Given the description of an element on the screen output the (x, y) to click on. 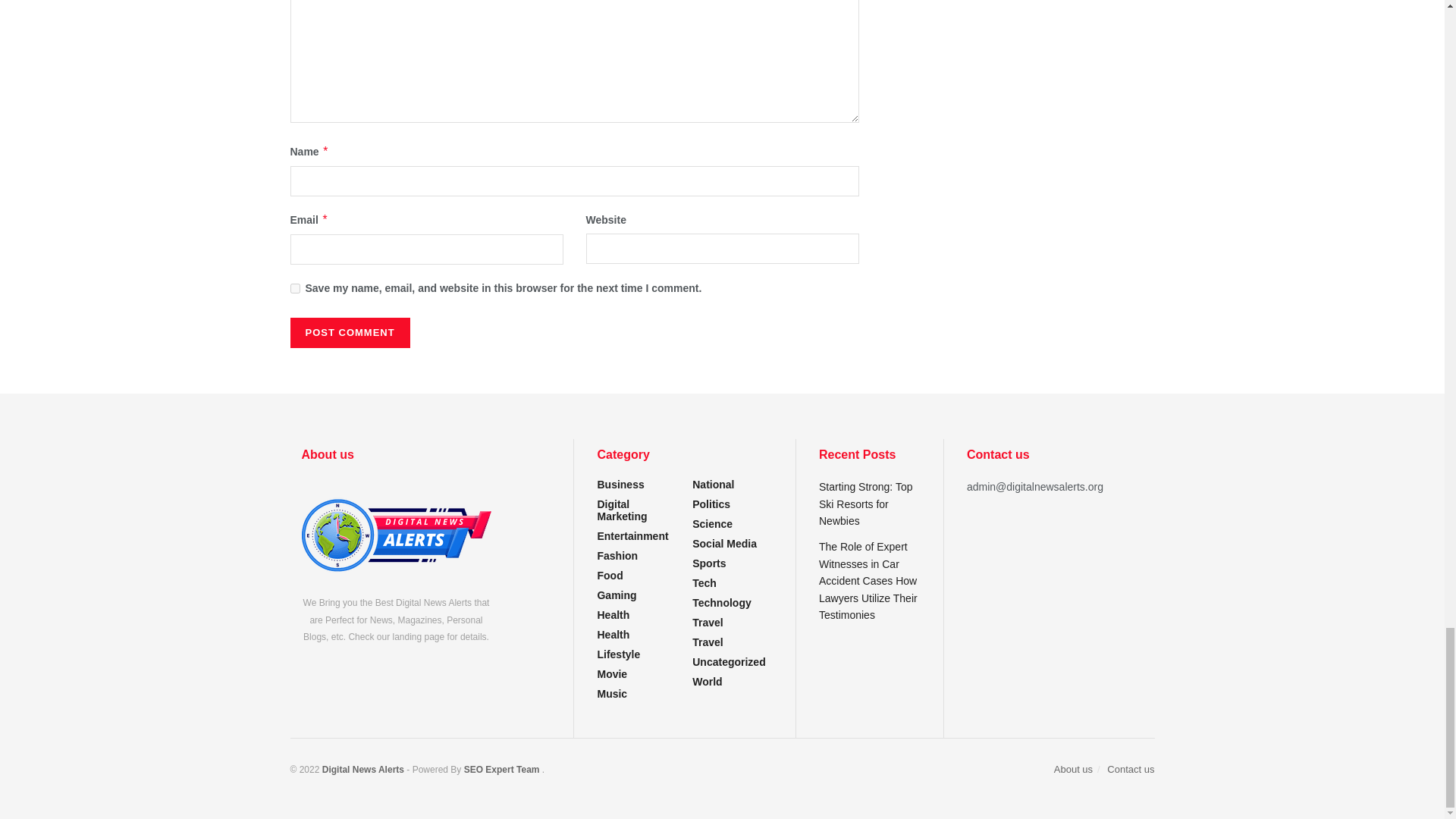
Post Comment (349, 332)
About us (396, 535)
Digital News Alerts (364, 769)
Umair Ali (501, 769)
yes (294, 288)
